Given the description of an element on the screen output the (x, y) to click on. 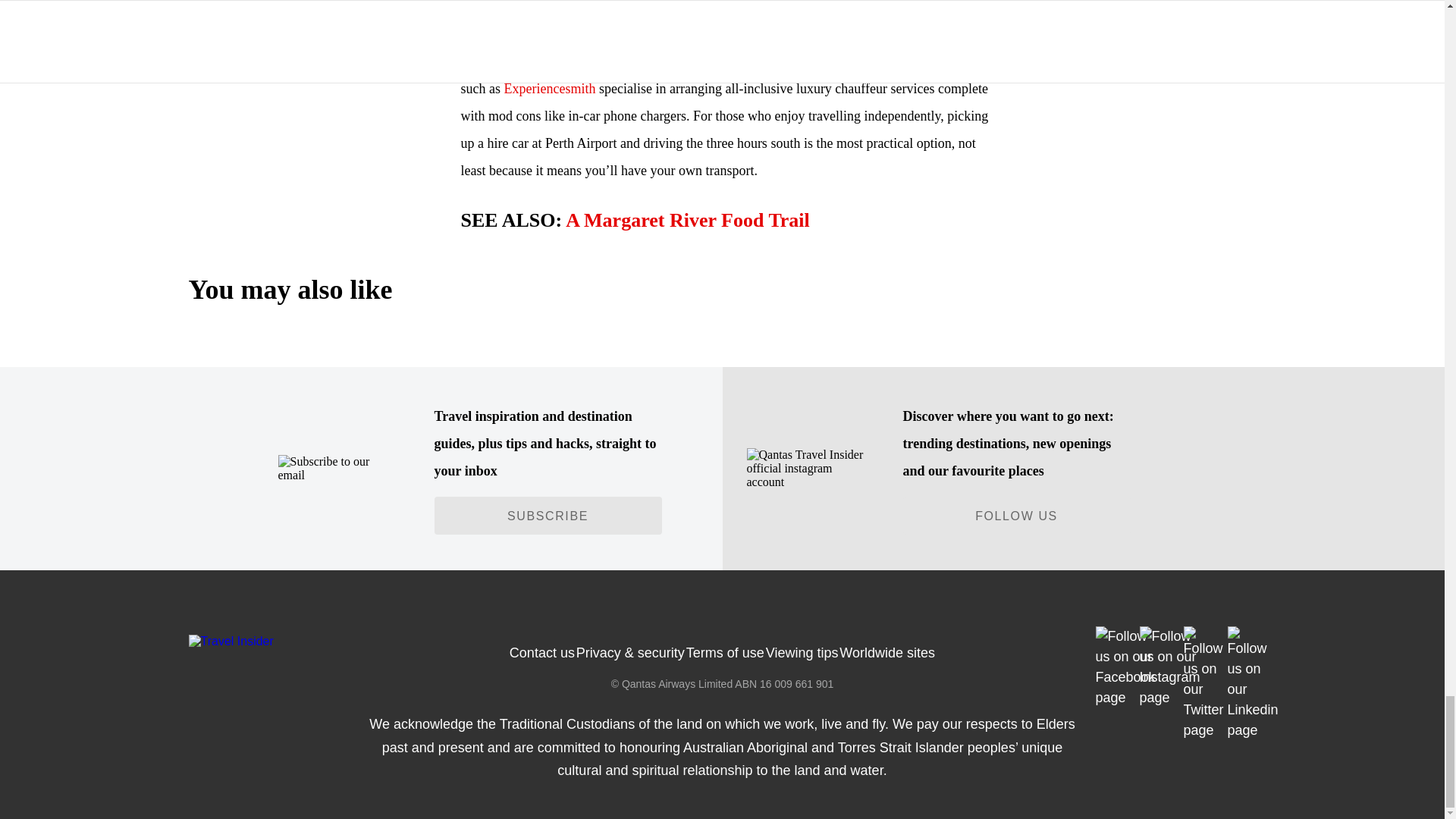
A Margaret River Food Trail (687, 219)
Subscribe to our email (337, 468)
Travel Insider (347, 640)
Travel Insider (230, 641)
Qantas Travel Insider official instagram account (805, 467)
